Given the description of an element on the screen output the (x, y) to click on. 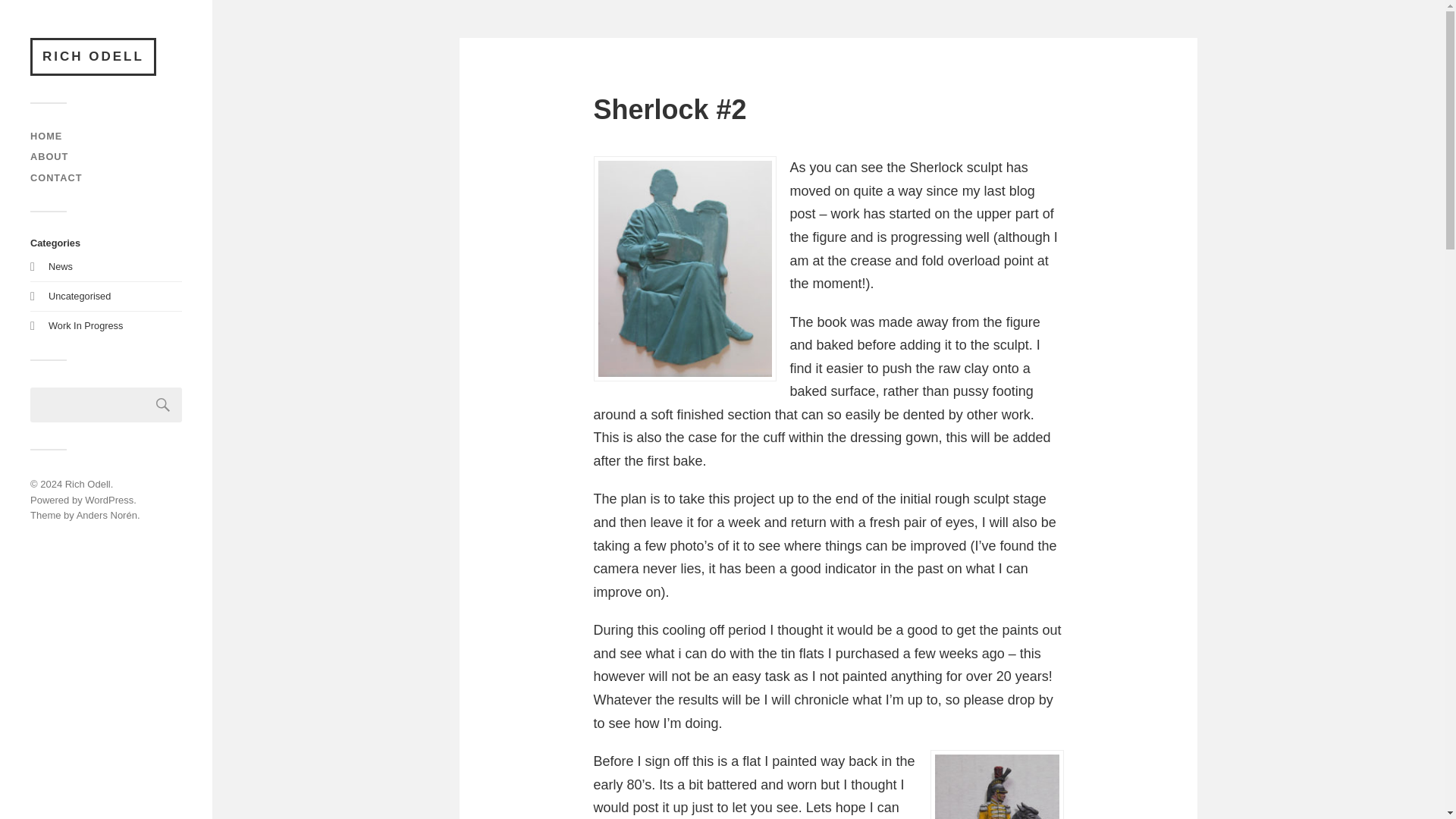
CONTACT (55, 177)
Uncategorised (79, 296)
ABOUT (49, 156)
HOME (46, 135)
News (60, 266)
RICH ODELL (92, 56)
WordPress (108, 500)
Rich Odell (87, 483)
Search (163, 404)
Search (163, 404)
